Given the description of an element on the screen output the (x, y) to click on. 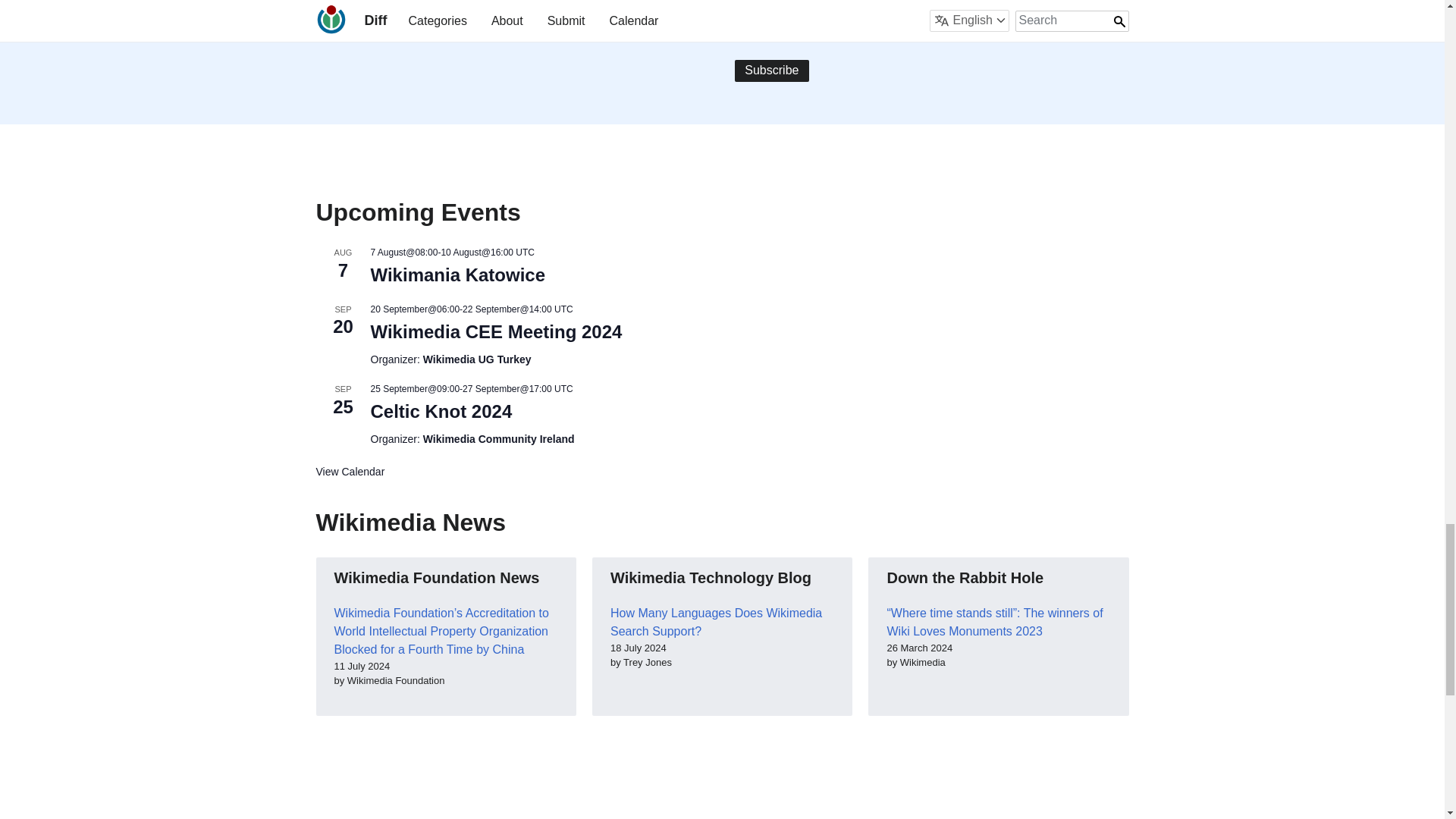
Wikimedia UG Turkey (477, 359)
Subscribe (771, 70)
How Many Languages Does Wikimedia Search Support? (716, 622)
Celtic Knot 2024 (440, 411)
View more events. (349, 472)
Wikimedia CEE Meeting 2024 (495, 332)
Wikimedia Community Ireland (499, 439)
Wikimania Katowice (456, 274)
View Calendar (349, 472)
Wikimania Katowice (456, 274)
Celtic Knot 2024 (440, 411)
Wikimedia CEE Meeting 2024 (495, 332)
